Given the description of an element on the screen output the (x, y) to click on. 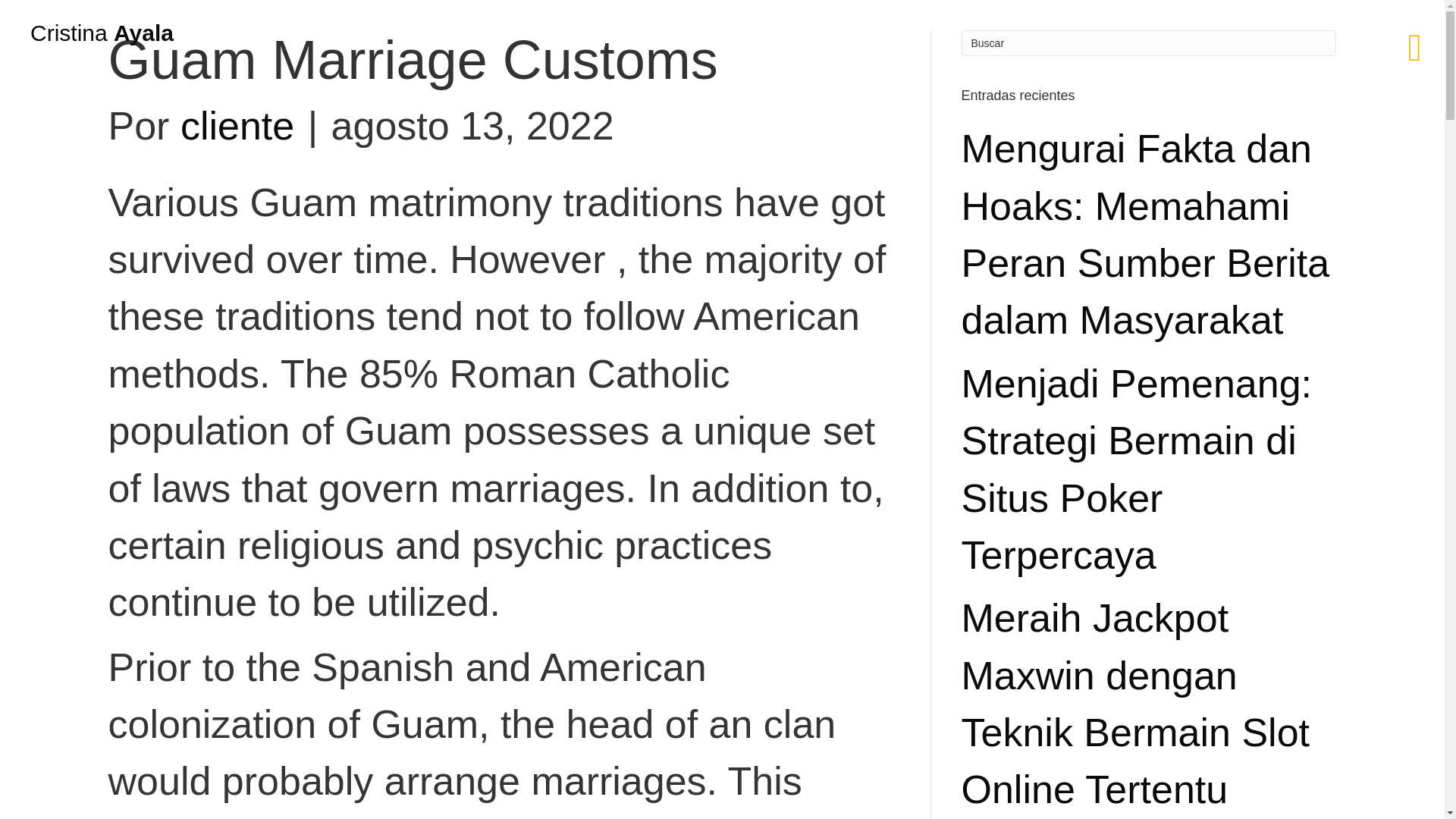
Buscar (1148, 43)
archivo (88, 242)
cliente (237, 126)
Cristina Ayala (101, 32)
Buscar (1148, 43)
Escribe y pulsa Enter para buscar. (1148, 43)
Menjadi Pemenang: Strategi Bermain di Situs Poker Terpercaya (1136, 469)
